Given the description of an element on the screen output the (x, y) to click on. 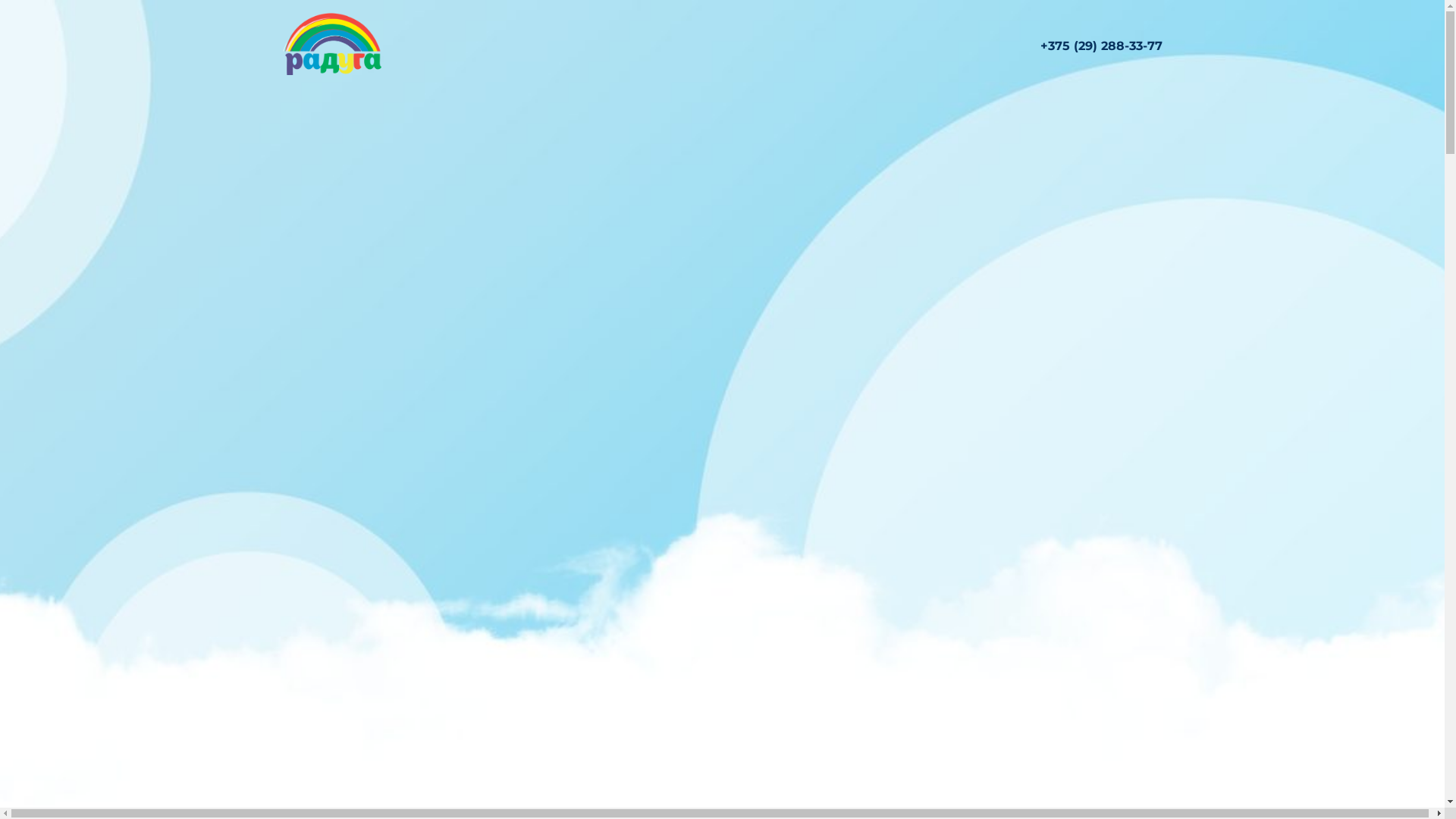
+375 (29) 288-33-77 Element type: text (1101, 44)
